Given the description of an element on the screen output the (x, y) to click on. 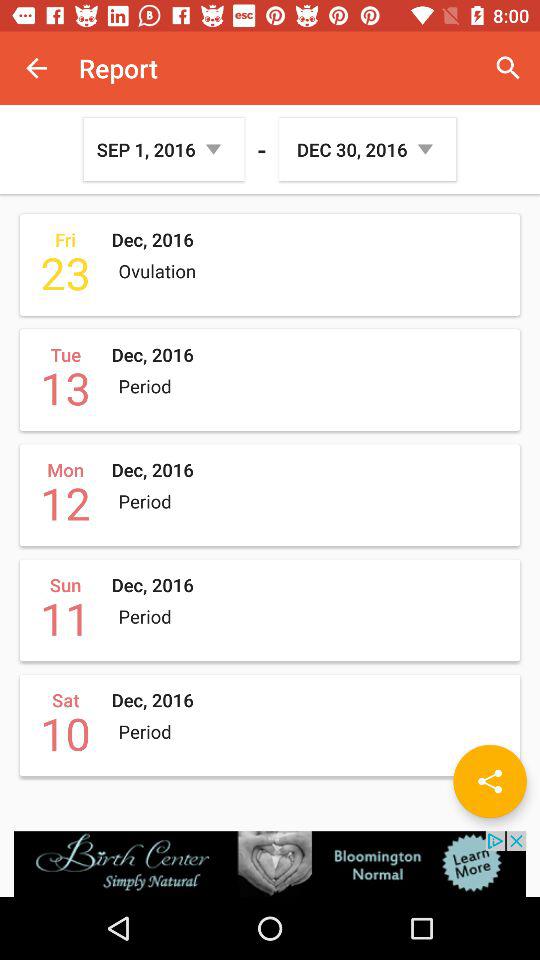
advertisement button (270, 864)
